Given the description of an element on the screen output the (x, y) to click on. 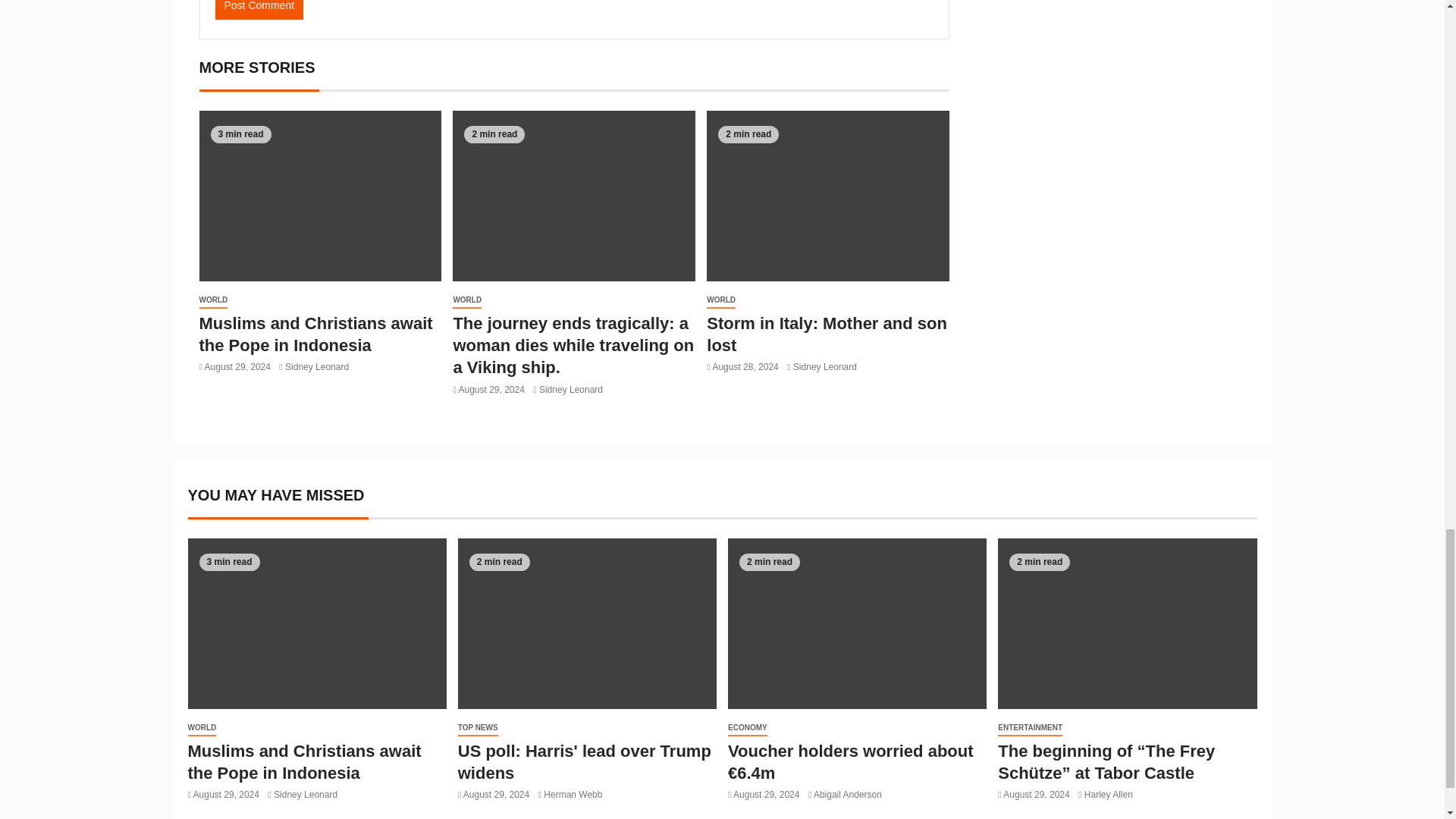
WORLD (212, 300)
Sidney Leonard (317, 366)
Post Comment (259, 9)
Post Comment (259, 9)
Muslims and Christians await the Pope in Indonesia (315, 333)
WORLD (466, 300)
